Given the description of an element on the screen output the (x, y) to click on. 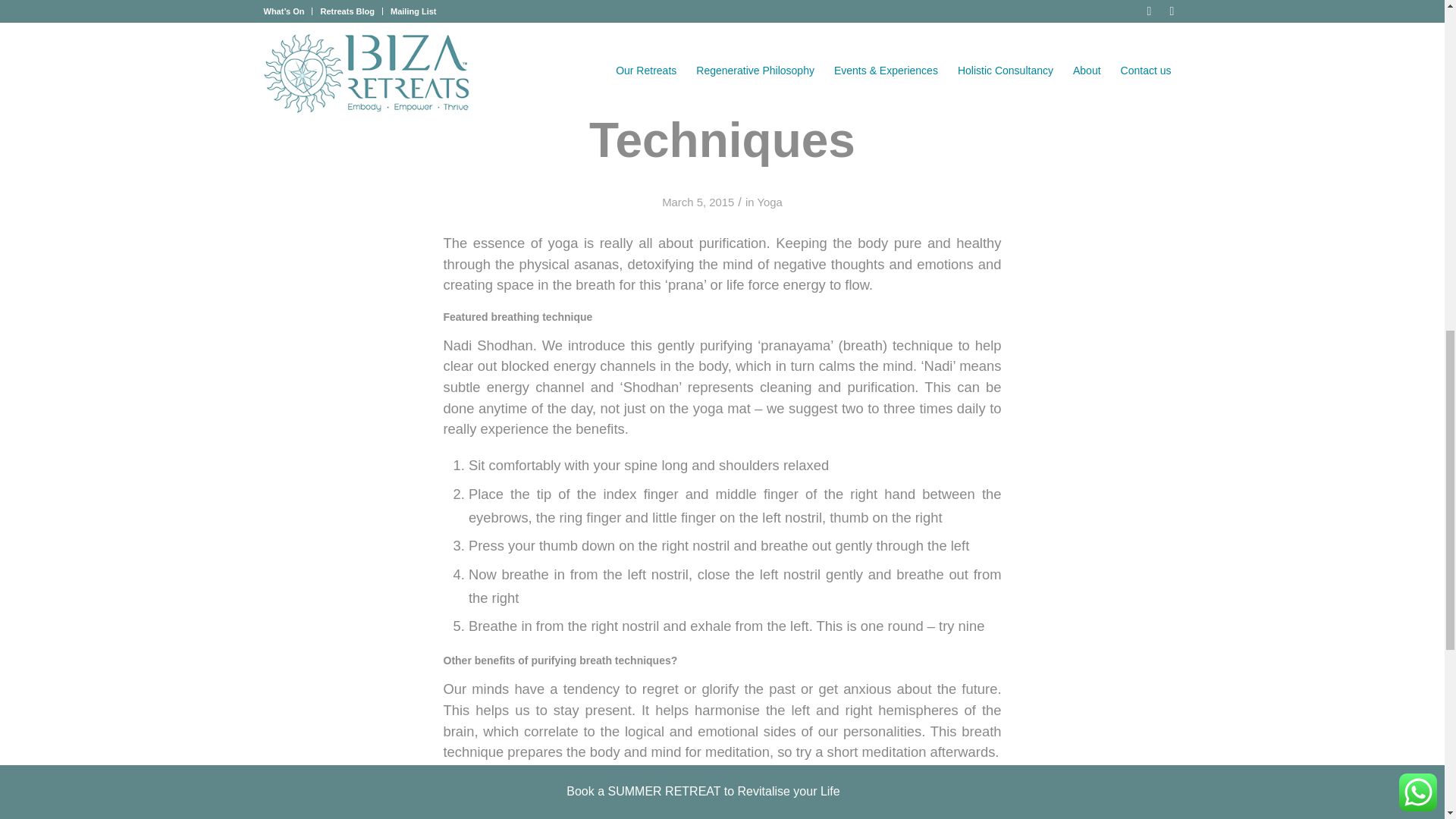
Yoga (769, 202)
Yoga for daily life: Purifying Breath Techniques (722, 83)
